Given the description of an element on the screen output the (x, y) to click on. 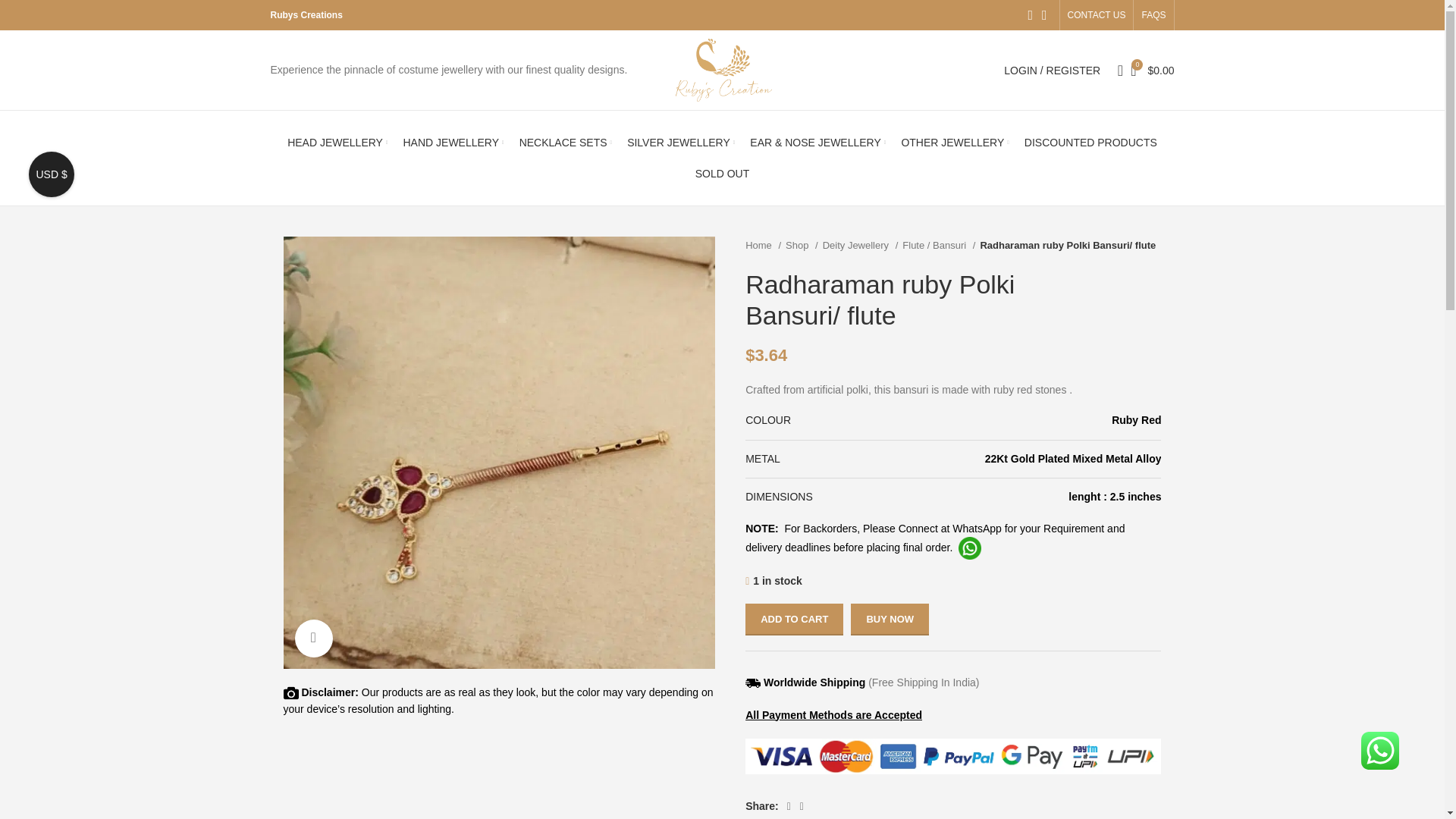
FAQS (1153, 15)
Shopping cart (1151, 69)
My account (1051, 69)
HEAD JEWELLERY (336, 142)
CONTACT US (1096, 15)
Search (1115, 69)
HAND JEWELLERY (453, 142)
